Given the description of an element on the screen output the (x, y) to click on. 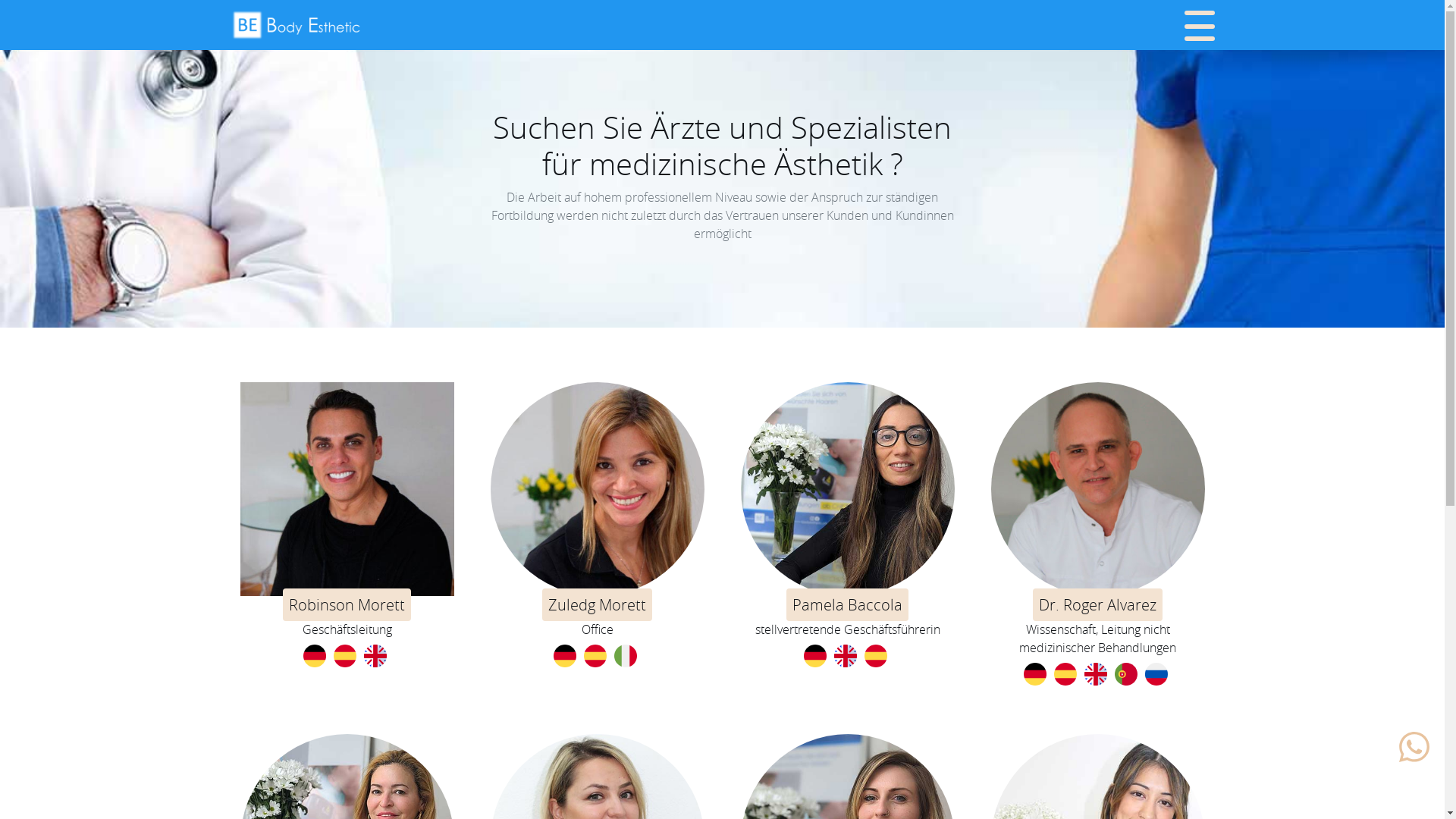
call or whatsapp us Element type: hover (1414, 746)
